Given the description of an element on the screen output the (x, y) to click on. 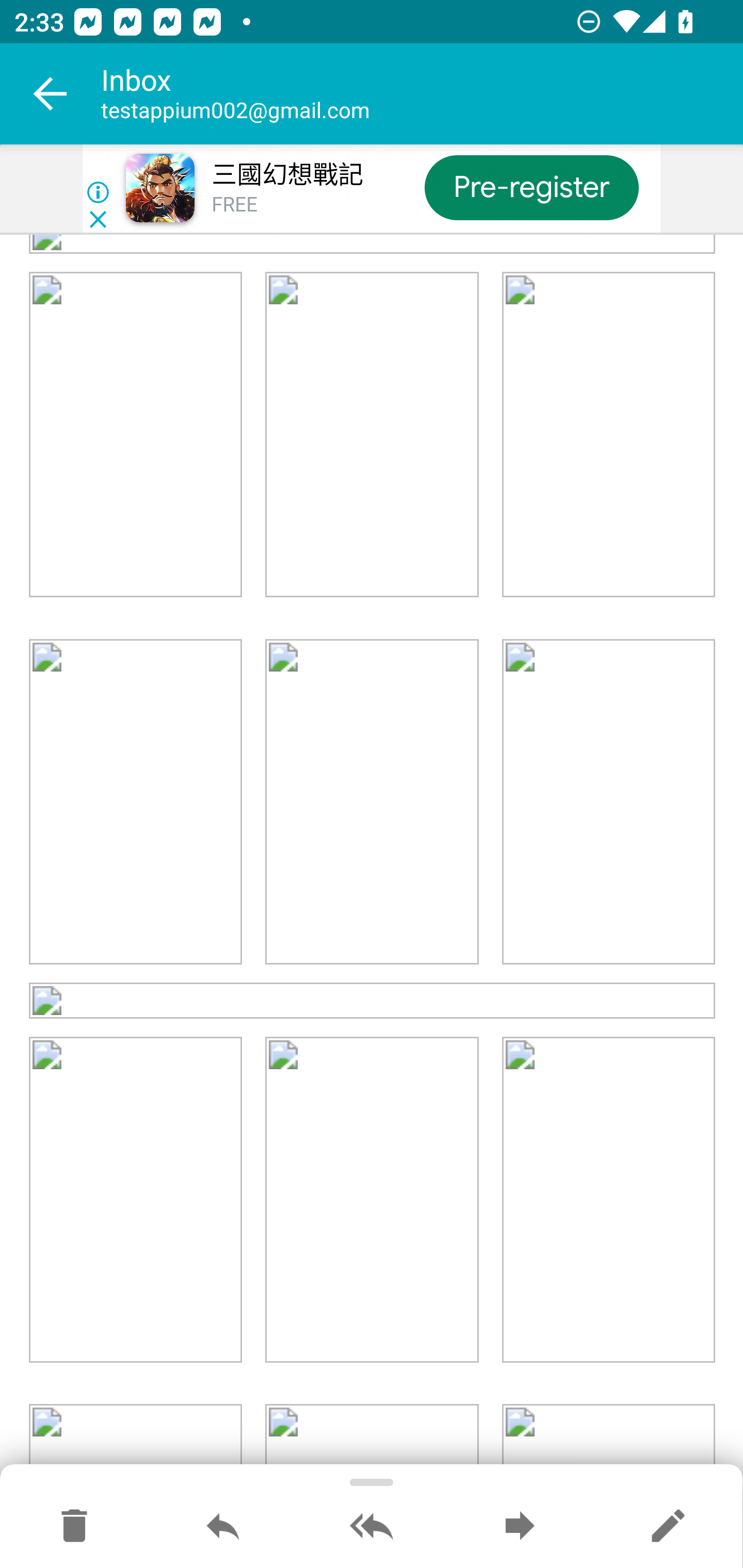
Navigate up (50, 93)
Inbox testappium002@gmail.com (422, 93)
Pre-register (530, 187)
三國幻想戰記 (287, 175)
FREE (234, 204)
mbs_landing_goods (135, 435)
mbs_landing_goods (371, 435)
mbs_landing_goods (608, 435)
mbs_landing_goods (135, 803)
mbs_landing_goods (371, 803)
mbs_landing_goods (608, 803)
mbs_landing_goods (372, 1001)
mbs_landing_goods (135, 1200)
mbs_landing_goods (371, 1200)
mbs_landing_goods (608, 1200)
Move to Deleted (74, 1527)
Reply (222, 1527)
Reply all (371, 1527)
Forward (519, 1527)
Reply as new (667, 1527)
